Given the description of an element on the screen output the (x, y) to click on. 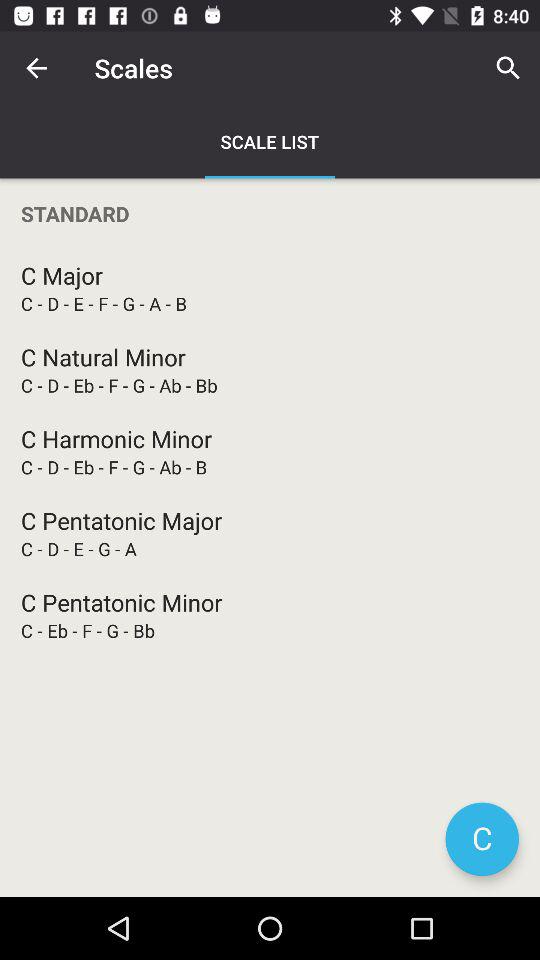
open the item below scale list item (270, 213)
